Given the description of an element on the screen output the (x, y) to click on. 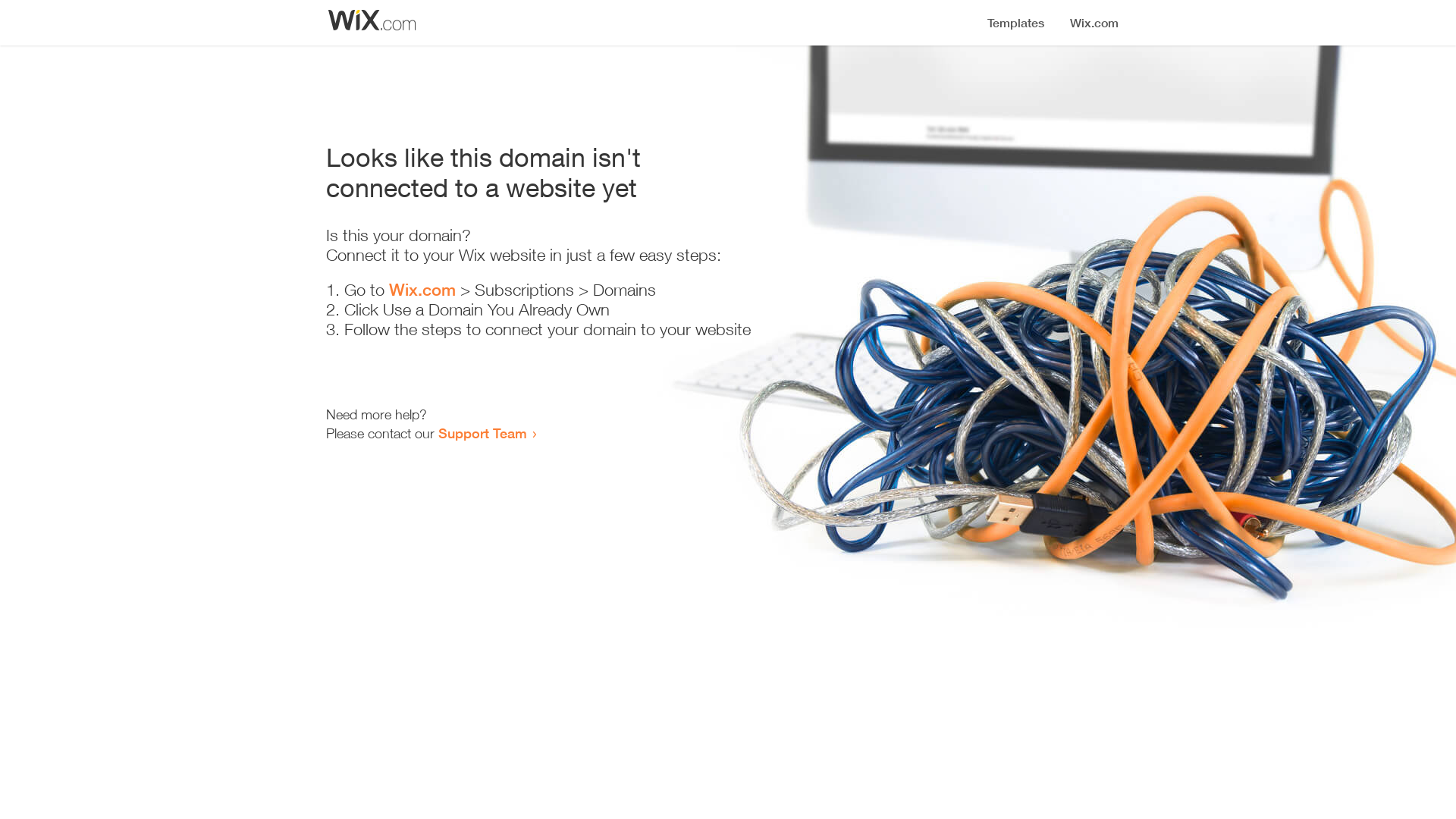
Support Team Element type: text (482, 432)
Wix.com Element type: text (422, 289)
